Given the description of an element on the screen output the (x, y) to click on. 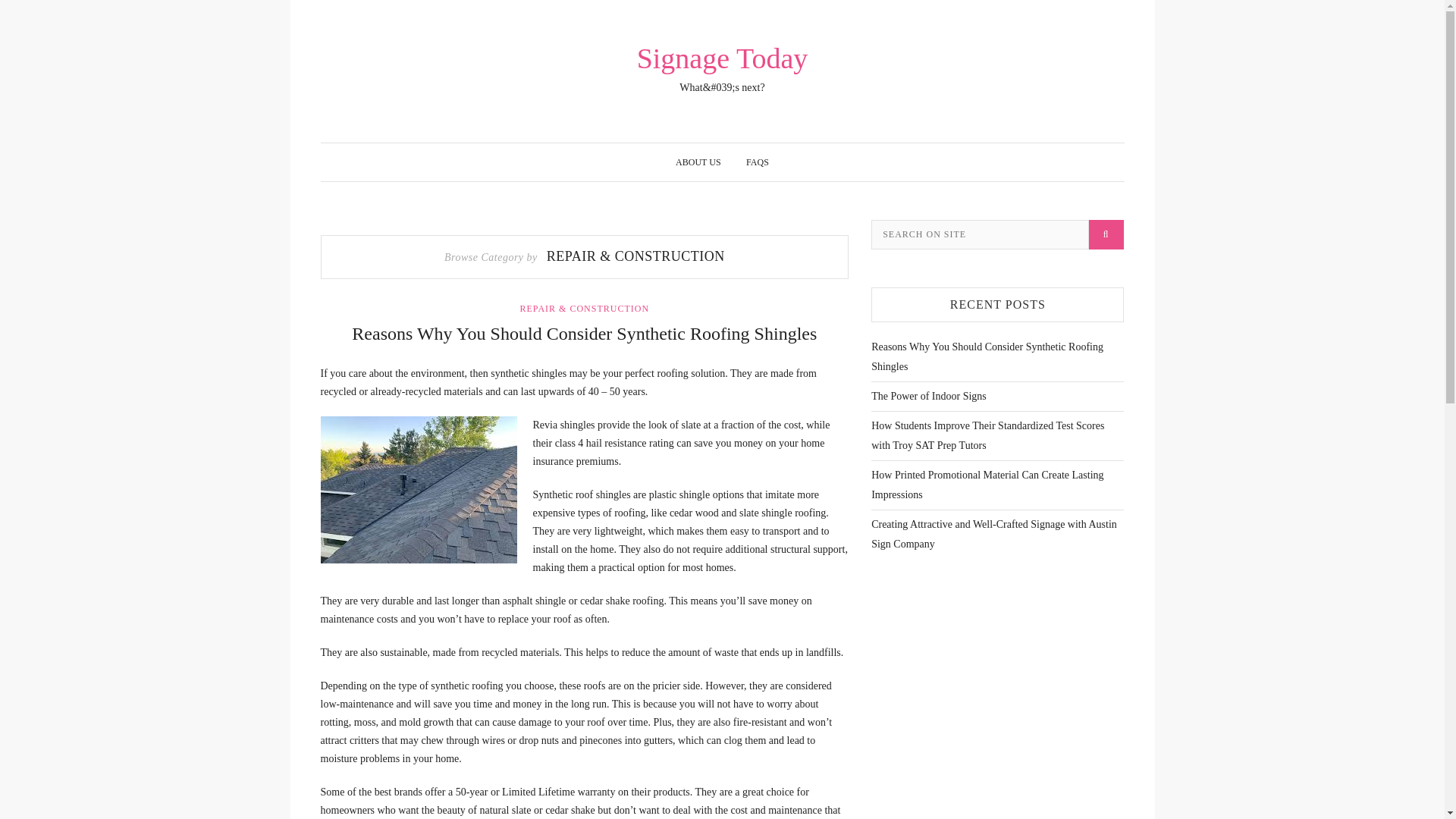
Reasons Why You Should Consider Synthetic Roofing Shingles (584, 333)
FAQS (756, 161)
ABOUT US (697, 161)
The Power of Indoor Signs (928, 396)
Signage Today (722, 58)
Reasons Why You Should Consider Synthetic Roofing Shingles (986, 356)
